Given the description of an element on the screen output the (x, y) to click on. 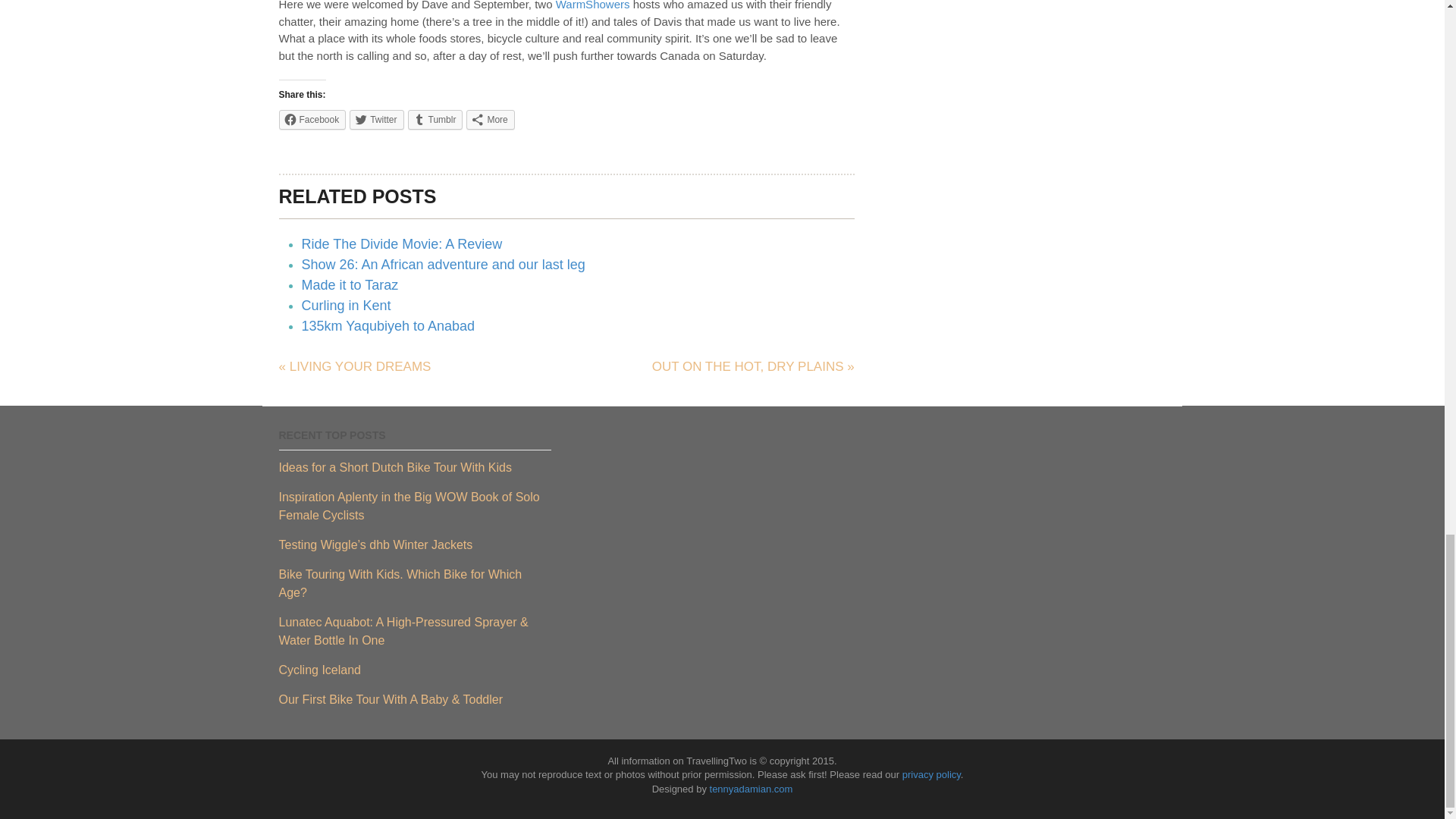
Made it to Taraz (349, 284)
Tumblr (435, 119)
Click to share on Twitter (376, 119)
Show 26: An African adventure and our last leg (443, 264)
More (489, 119)
Curling in Kent (346, 305)
Facebook (312, 119)
Twitter (376, 119)
135km Yaqubiyeh to Anabad (388, 325)
Click to share on Tumblr (435, 119)
